Given the description of an element on the screen output the (x, y) to click on. 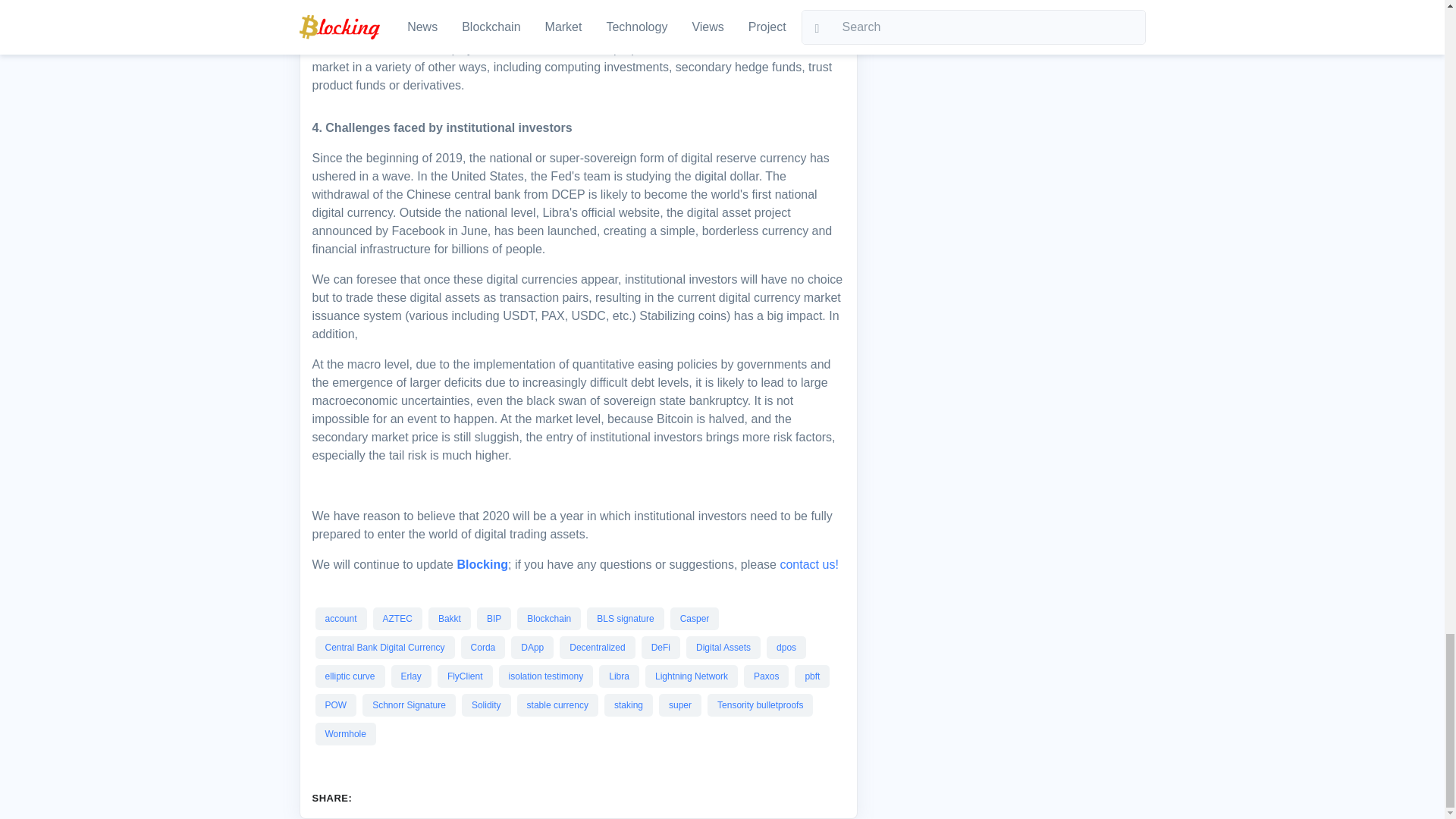
Erlay (411, 675)
Central Bank Digital Currency (384, 647)
FlyClient (464, 675)
elliptic curve (349, 675)
DeFi (659, 647)
Decentralized (596, 647)
account (340, 618)
Libra (618, 675)
Blocking (482, 563)
POW (335, 705)
Bakkt (449, 618)
Lightning Network (691, 675)
BLS signature (624, 618)
Schnorr Signature (408, 705)
Casper (694, 618)
